Given the description of an element on the screen output the (x, y) to click on. 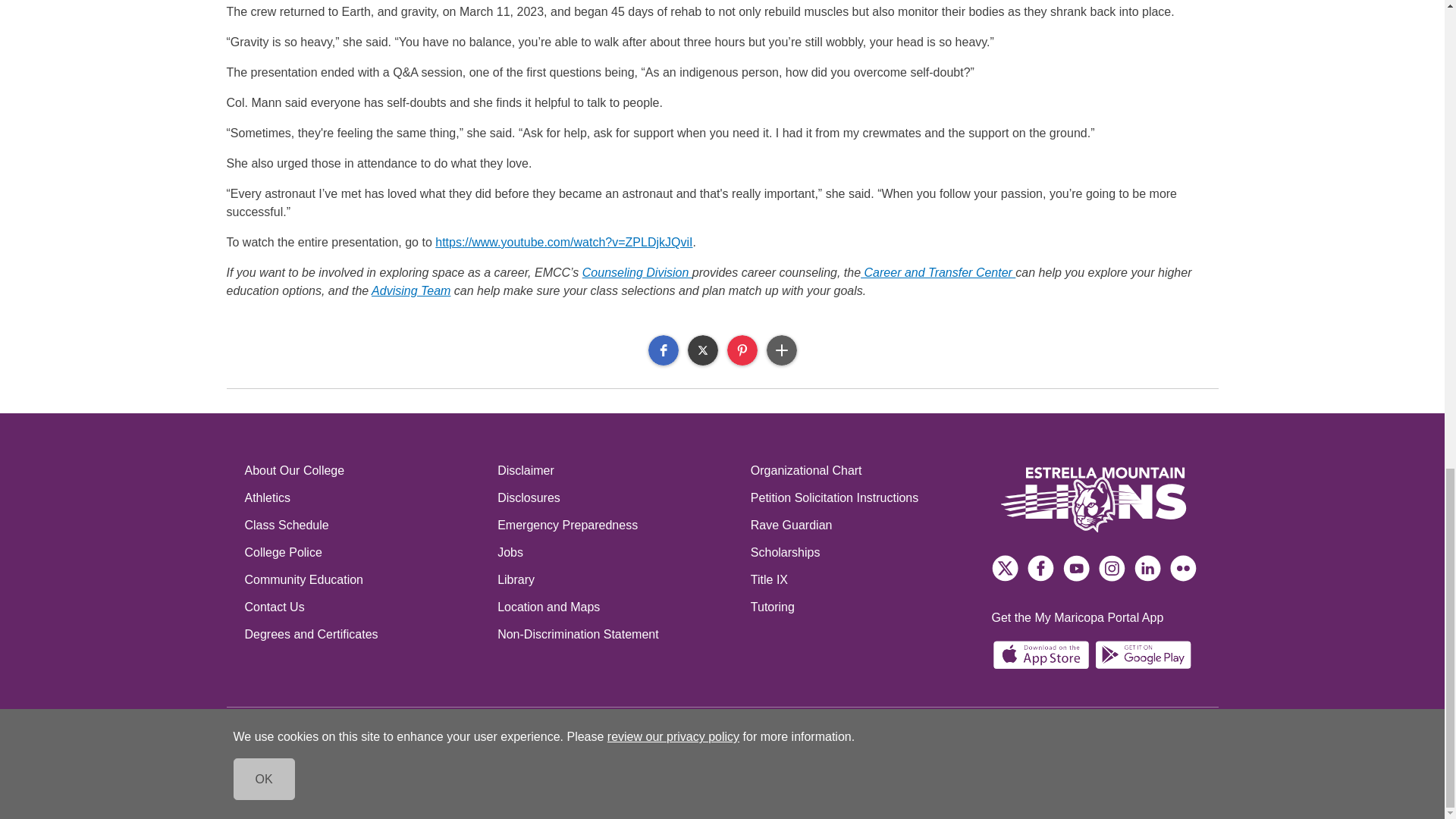
Twitter (702, 349)
Advising Team (410, 290)
Pinterest (741, 349)
Maricopa Community Colleges (315, 773)
Facebook (662, 349)
About Our College (361, 474)
Degrees and Certificates (361, 638)
Career and Transfer Center  (937, 272)
College Police (361, 556)
Community Education (361, 584)
Contact Us (361, 611)
Athletics (361, 502)
More (780, 349)
Class Schedule (361, 529)
Counseling Division  (637, 272)
